Given the description of an element on the screen output the (x, y) to click on. 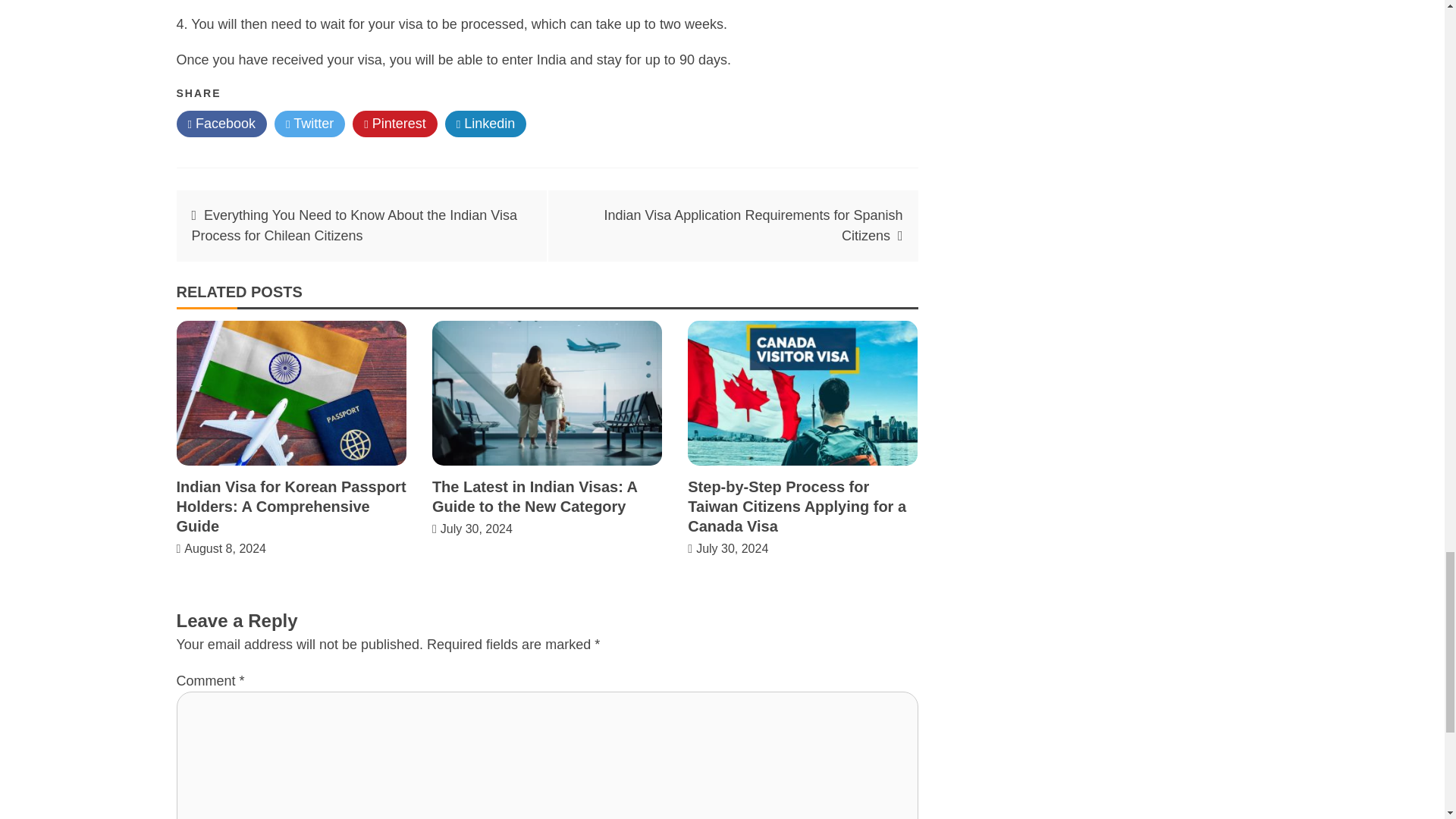
Facebook (221, 123)
July 30, 2024 (476, 528)
Linkedin (486, 123)
Indian Visa Application Requirements for Spanish Citizens (753, 225)
The Latest in Indian Visas: A Guide to the New Category (534, 496)
Pinterest (395, 123)
August 8, 2024 (225, 548)
